Given the description of an element on the screen output the (x, y) to click on. 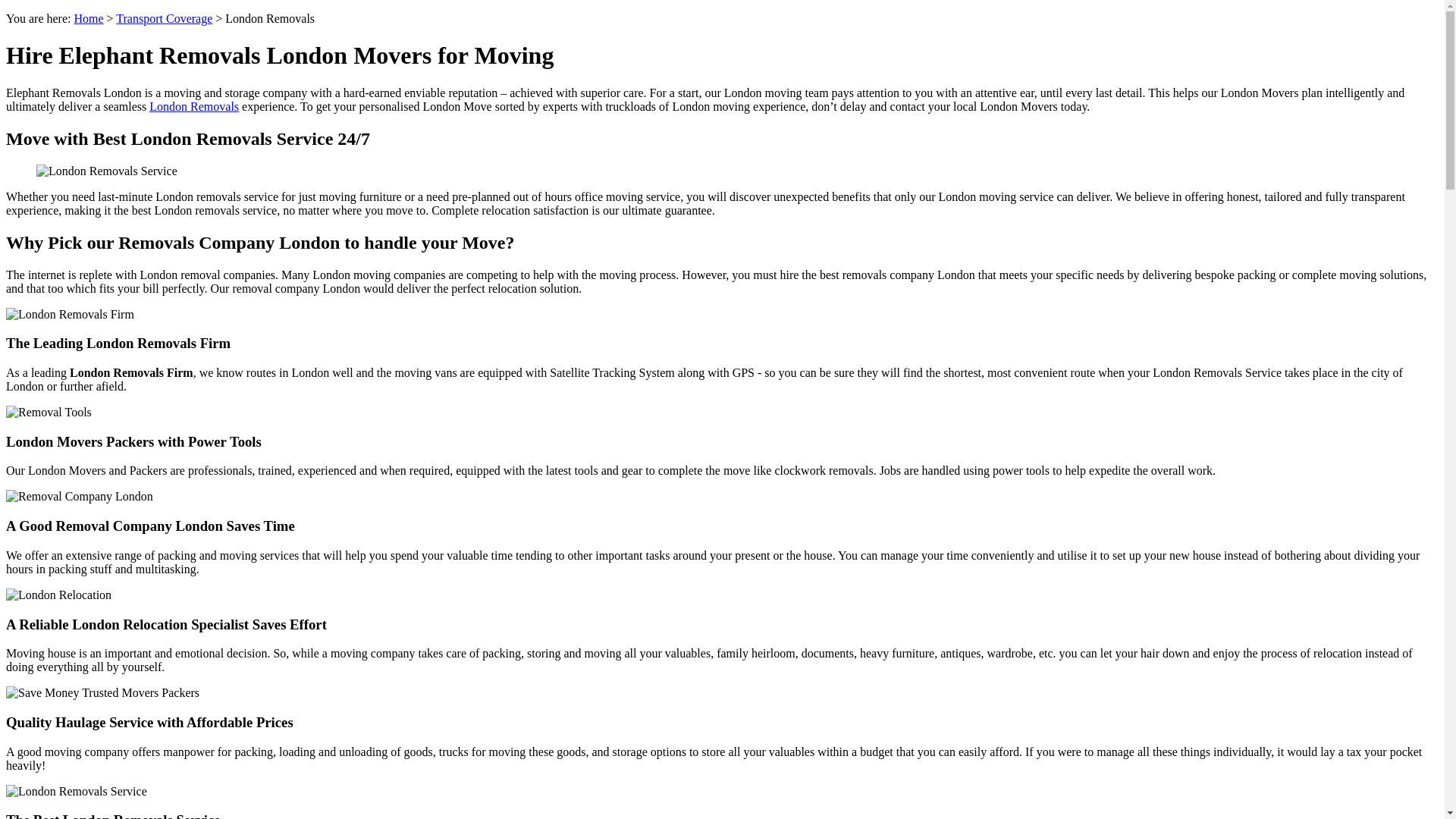
Save Money Trusted Movers Packers (102, 693)
London Removals Service (76, 791)
London Removals Firm (69, 314)
London Removals (193, 106)
Transport Coverage (164, 18)
Removal Company London (78, 496)
London Relocation (58, 594)
London Removals Service (106, 171)
Home (88, 18)
Removal Tools (48, 412)
